Given the description of an element on the screen output the (x, y) to click on. 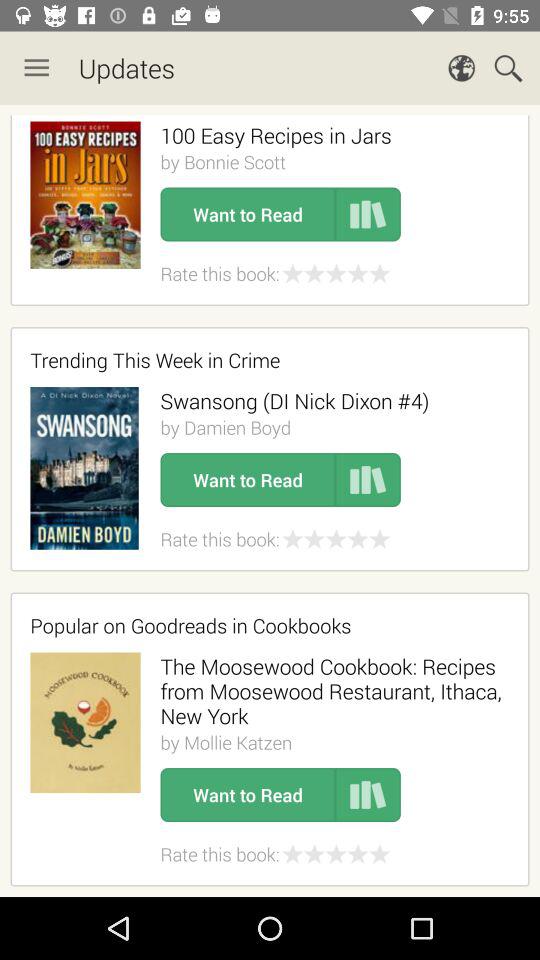
press item to the left of updates icon (36, 68)
